Given the description of an element on the screen output the (x, y) to click on. 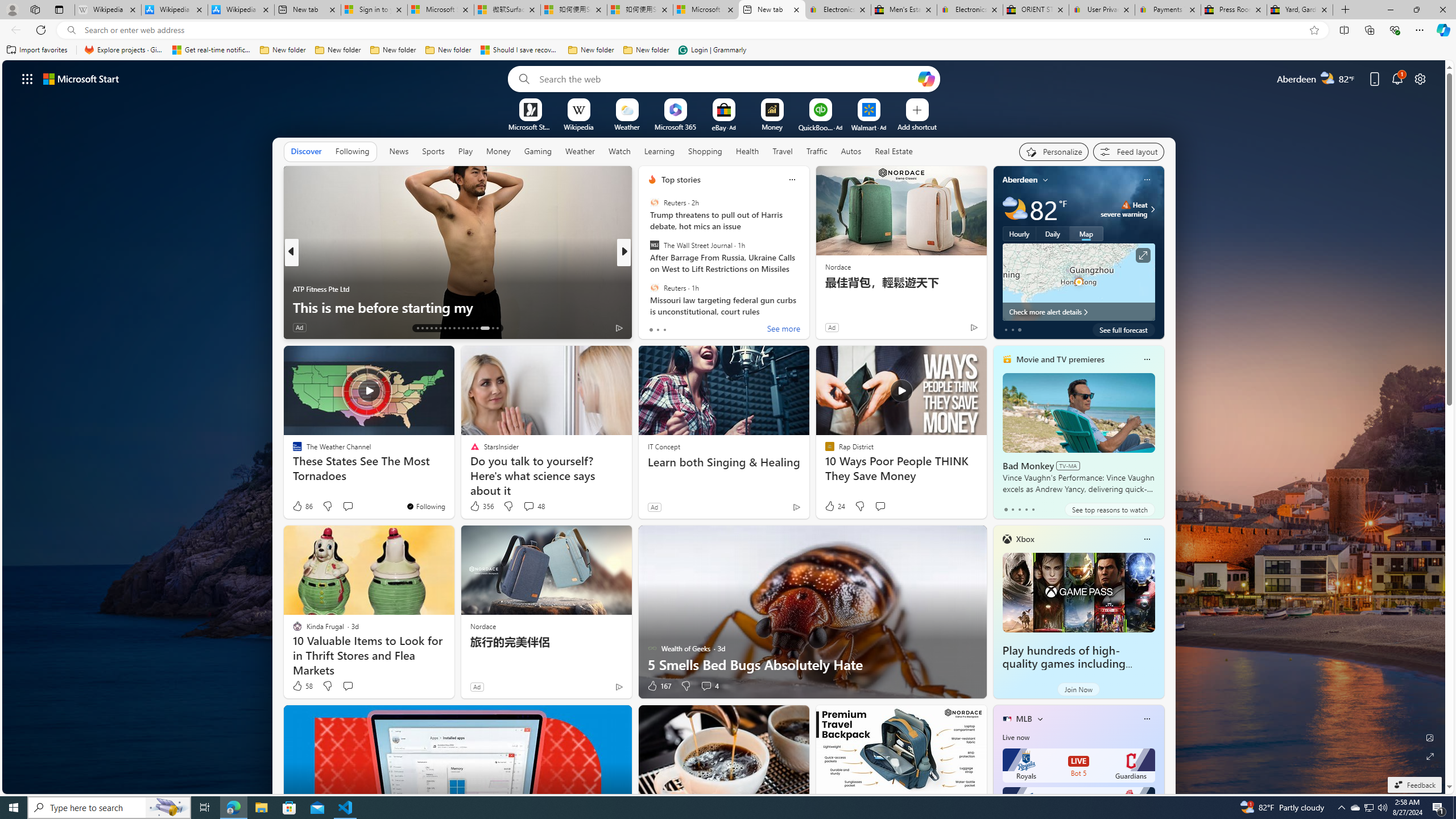
MLB (1024, 718)
Class: icon-img (1146, 718)
See top reasons to watch (1109, 509)
Top stories (680, 179)
Money (498, 151)
Should I save recovered Word documents? - Microsoft Support (519, 49)
Play (465, 151)
Shopping (705, 151)
AutomationID: tab-23 (462, 328)
AutomationID: tab-24 (467, 328)
View comments 4 Comment (709, 685)
